Given the description of an element on the screen output the (x, y) to click on. 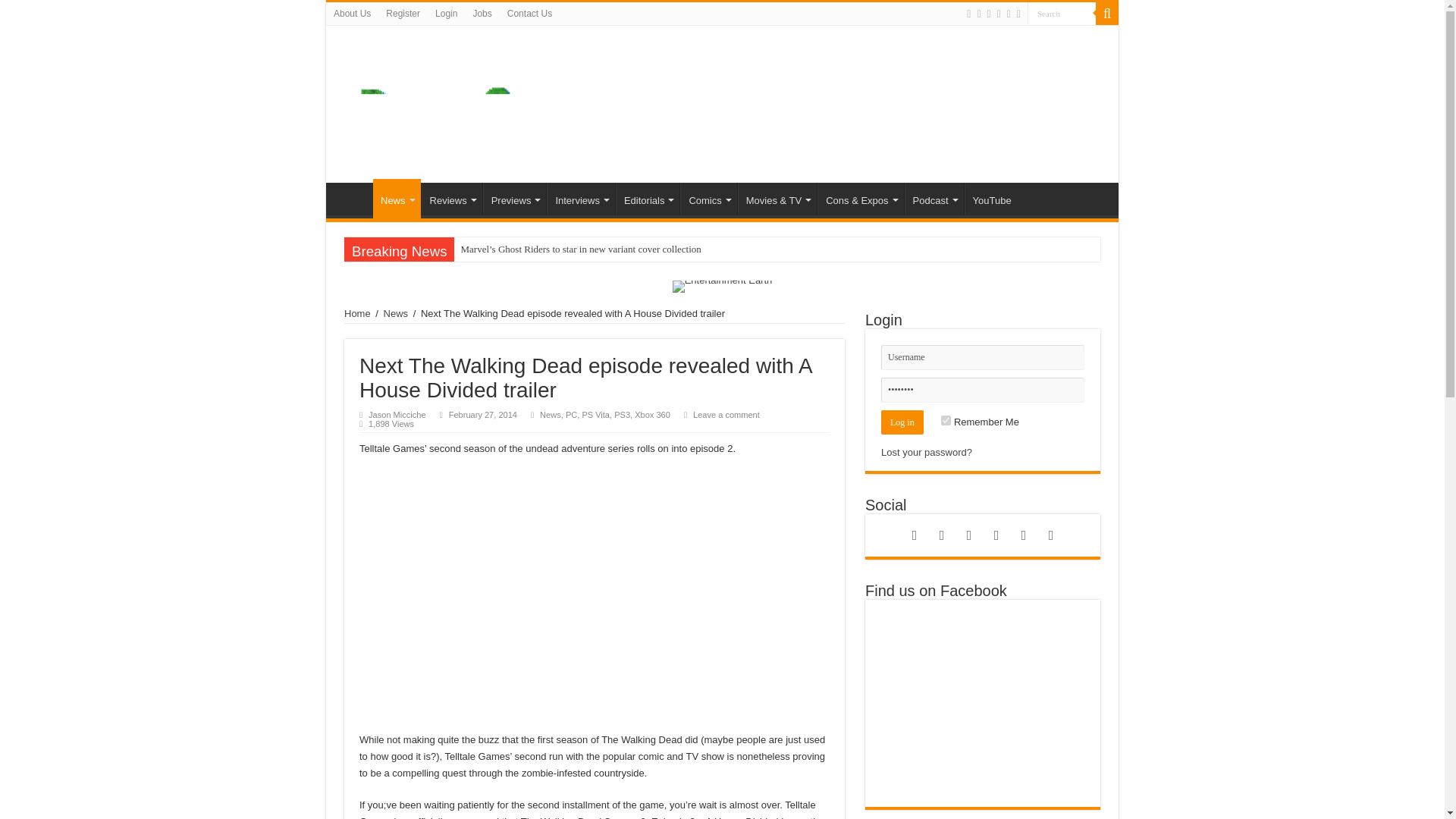
Search (1107, 13)
Search (1061, 13)
Home (352, 198)
Username (982, 357)
BrutalGamer (477, 101)
Password (982, 389)
Register (403, 13)
Log in (901, 422)
News (396, 198)
Search (1061, 13)
